Given the description of an element on the screen output the (x, y) to click on. 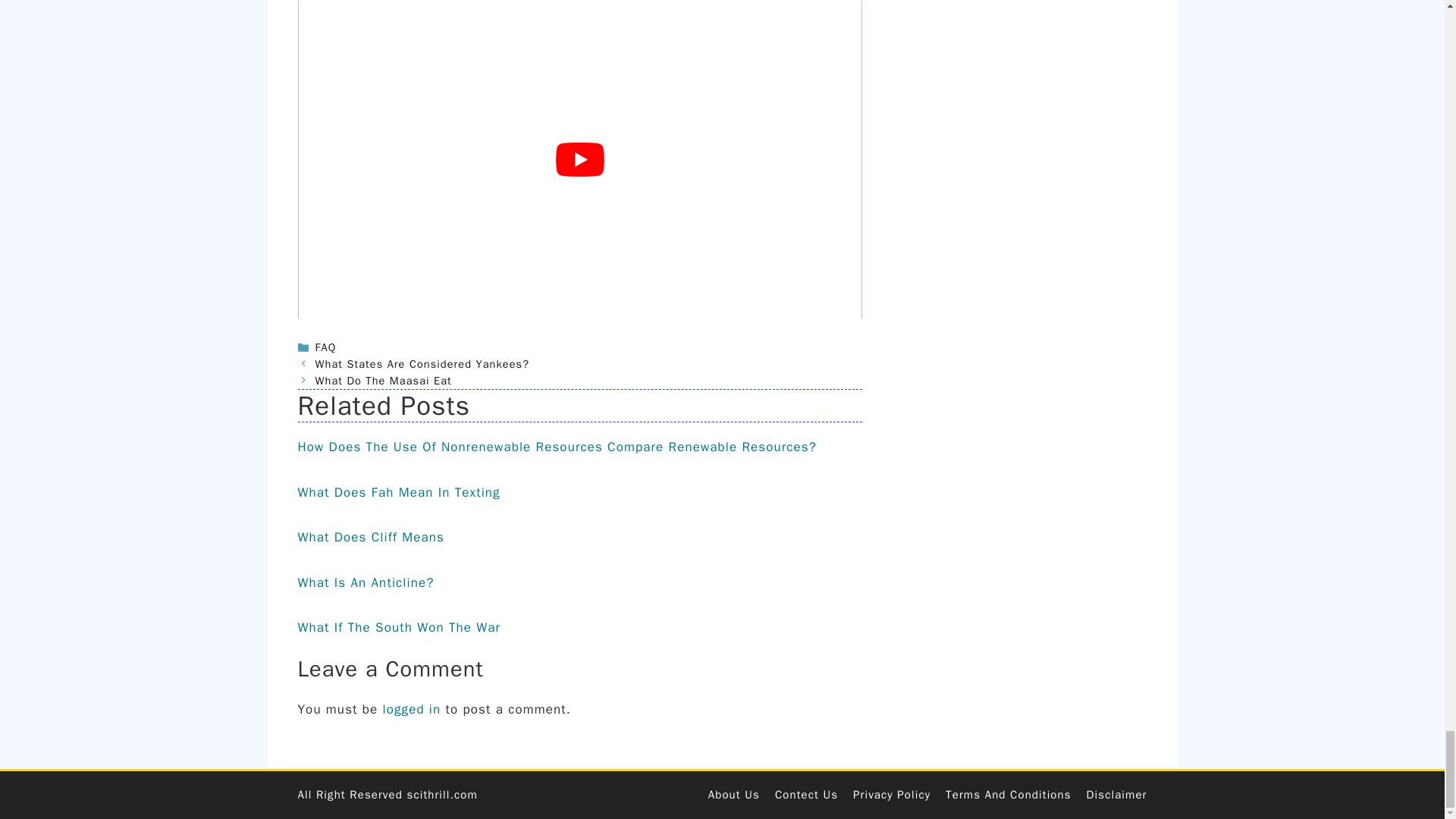
What States Are Considered Yankees? (422, 364)
logged in (411, 709)
What Does Cliff Means (370, 537)
What Do The Maasai Eat (383, 380)
What Is An Anticline? (365, 582)
What If The South Won The War (398, 627)
What Does Fah Mean In Texting (398, 492)
FAQ (325, 346)
